Given the description of an element on the screen output the (x, y) to click on. 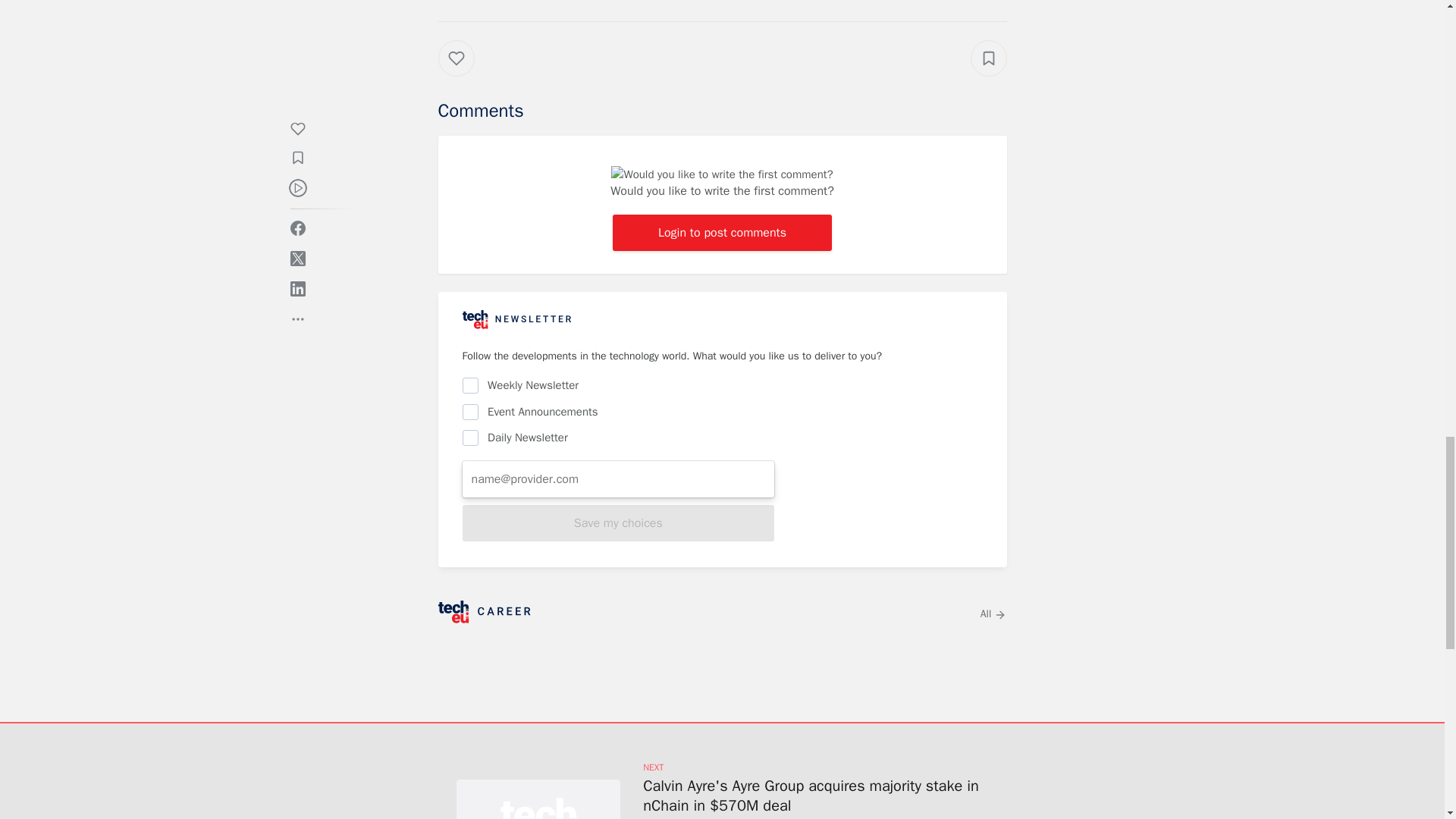
Add to collection (989, 58)
Like (467, 72)
